Given the description of an element on the screen output the (x, y) to click on. 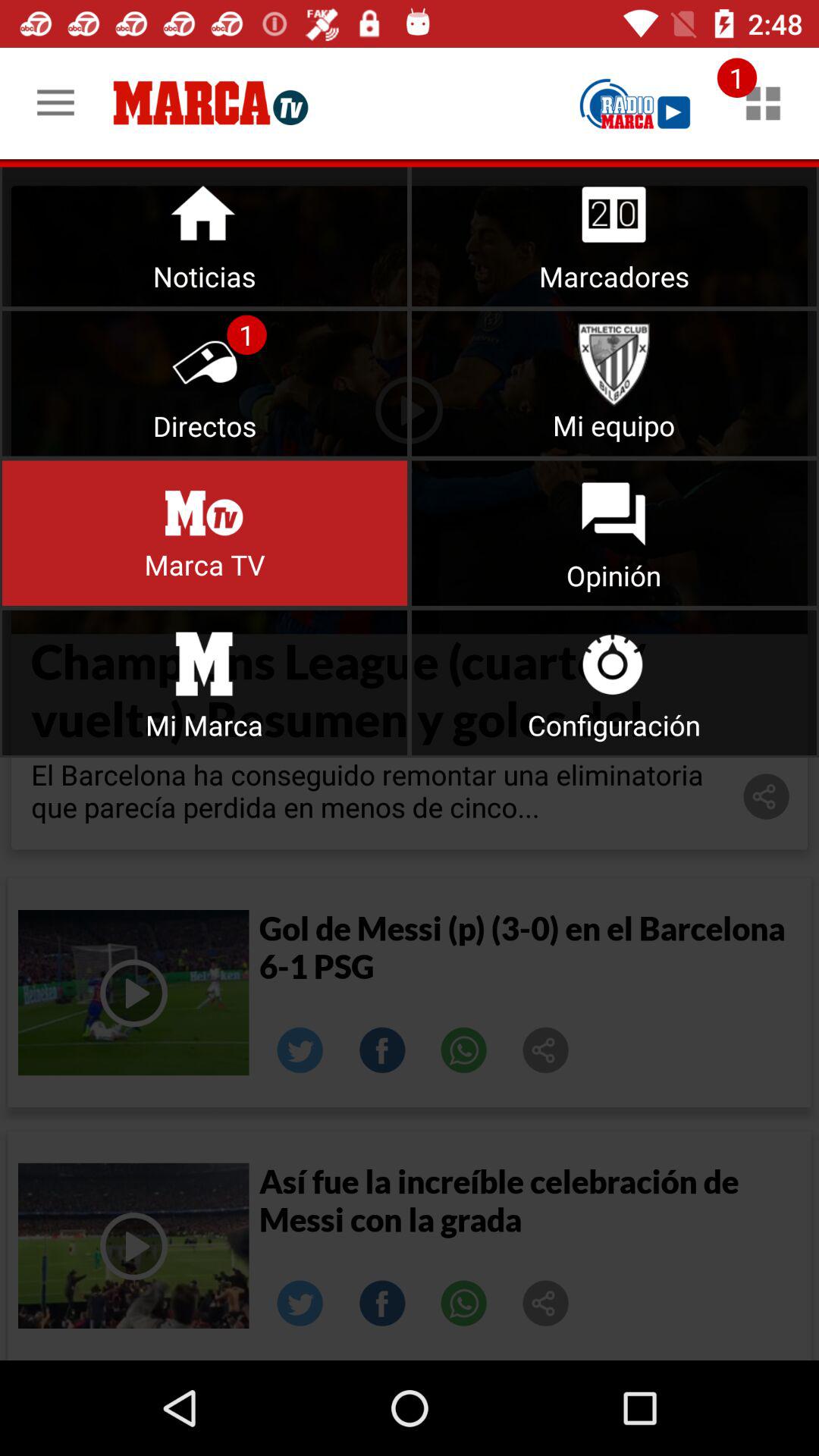
click on the twitter option for the second result (300, 1303)
